Given the description of an element on the screen output the (x, y) to click on. 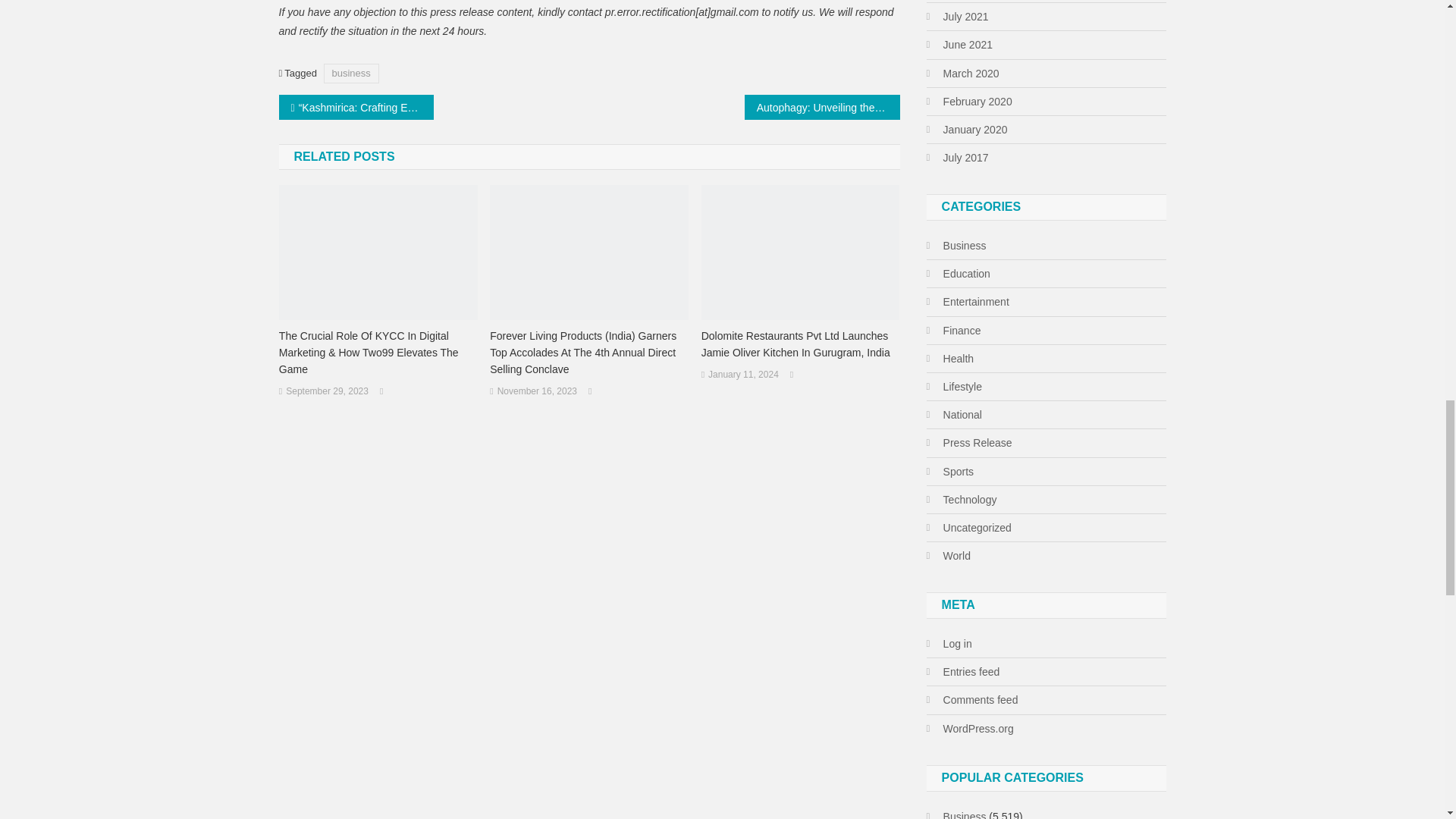
January 11, 2024 (742, 375)
September 29, 2023 (326, 392)
Autophagy: Unveiling the Cellular Cleanup Mechanism (821, 107)
November 16, 2023 (536, 392)
business (350, 72)
